Given the description of an element on the screen output the (x, y) to click on. 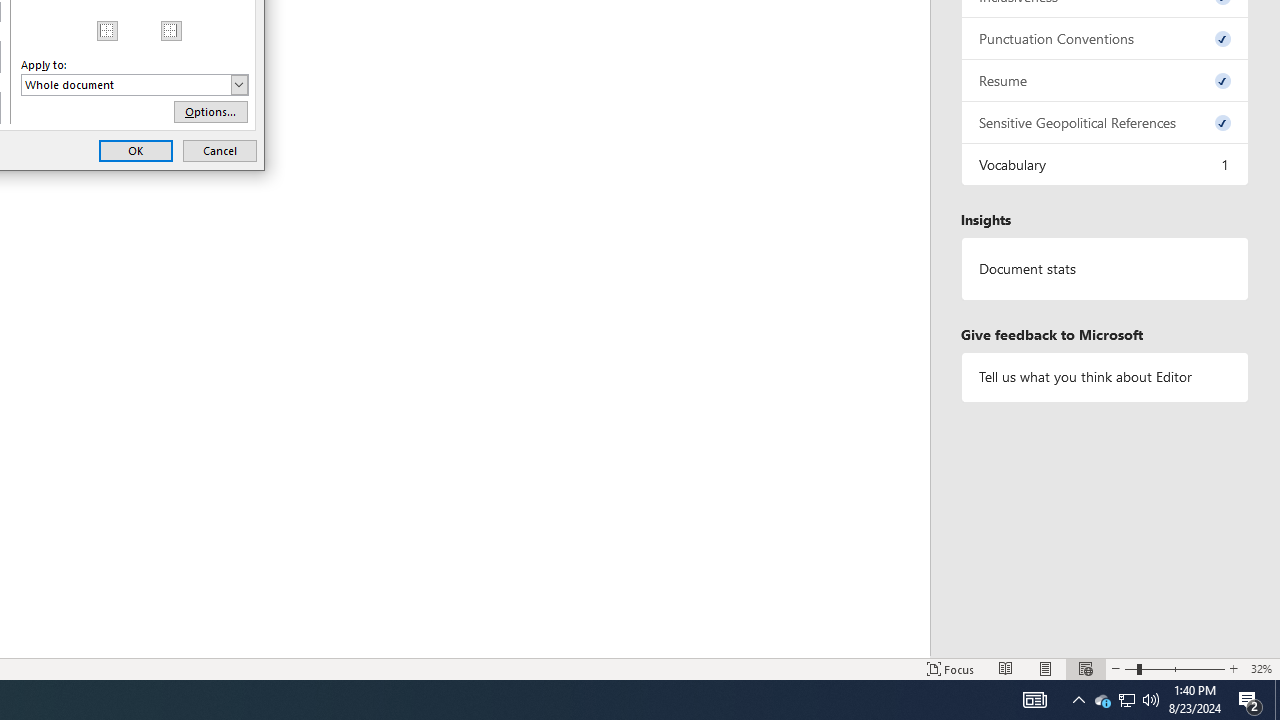
Vocabulary, 1 issue. Press space or enter to review items. (1105, 164)
Apply to: (134, 84)
MSO Generic Control Container (107, 30)
Document statistics (1105, 269)
AutomationID: 4105 (1034, 699)
Zoom 32% (1261, 668)
Zoom (1174, 668)
OK (136, 150)
Options... (210, 111)
